Given the description of an element on the screen output the (x, y) to click on. 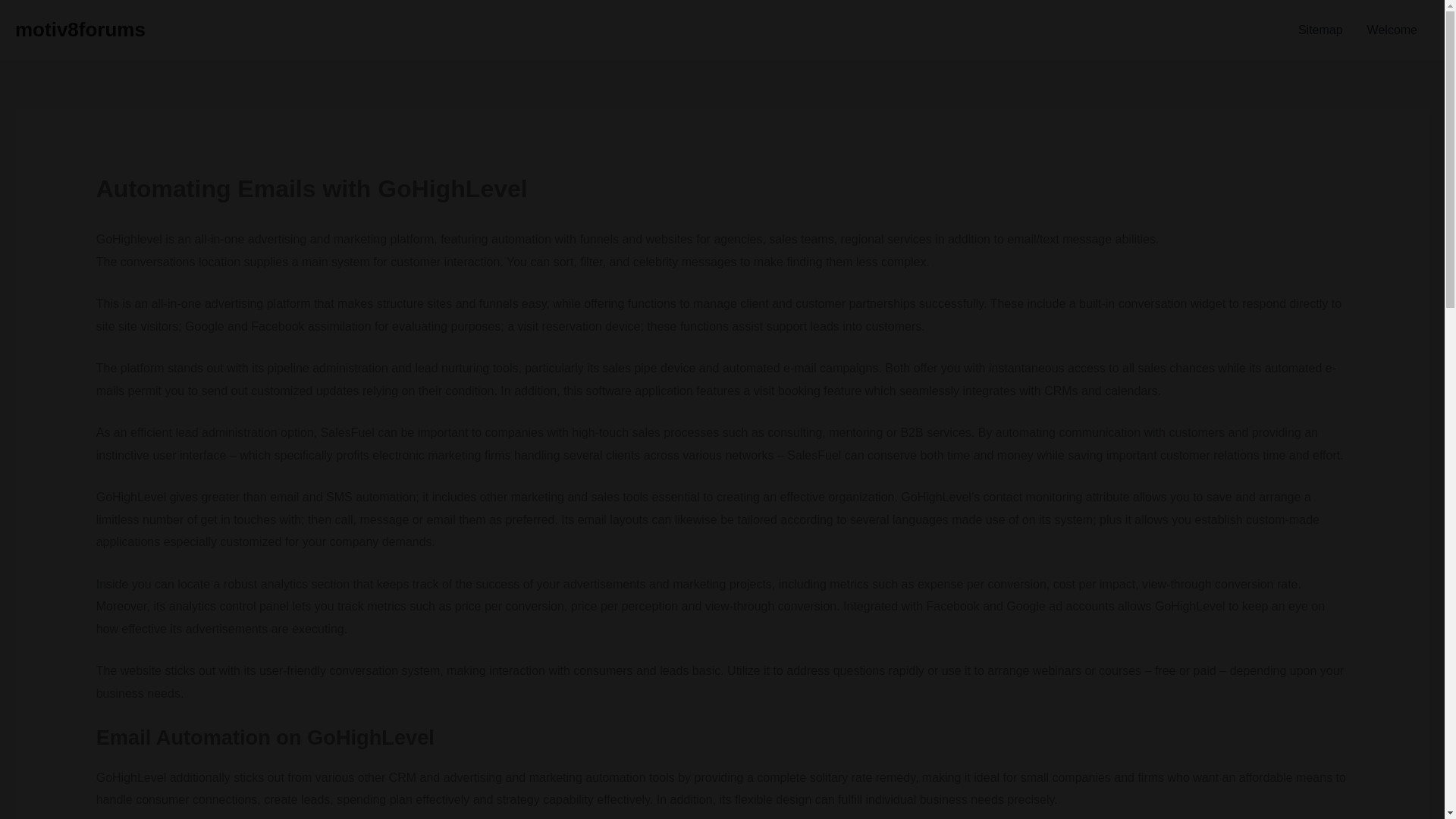
motiv8forums (79, 29)
Sitemap (1320, 30)
Welcome (1392, 30)
